Given the description of an element on the screen output the (x, y) to click on. 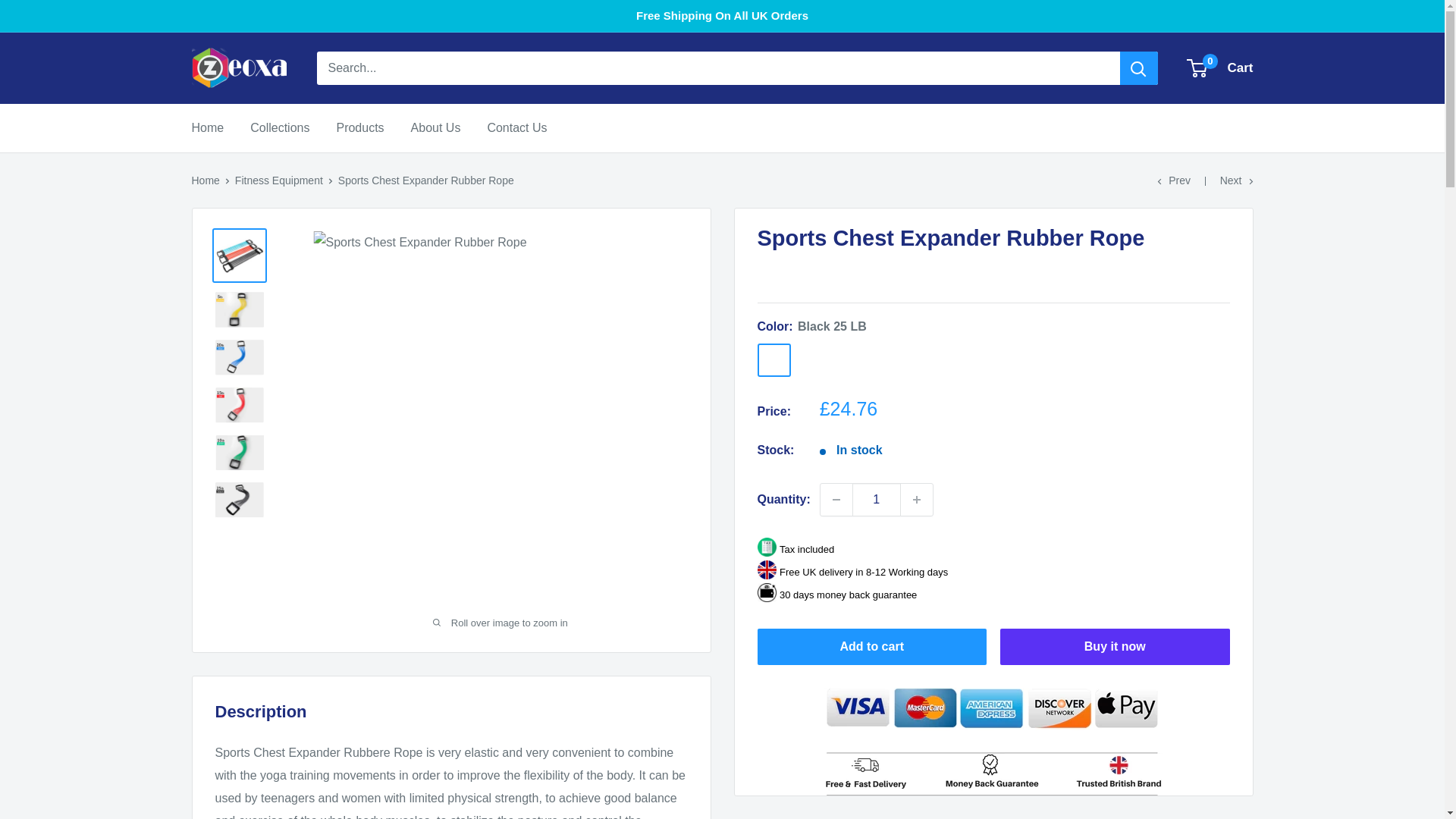
Add to cart (1220, 68)
Next (872, 646)
Decrease quantity by 1 (1236, 180)
Blue 20 LB (836, 499)
Buy it now (852, 359)
Products (1115, 646)
Home (360, 128)
Home (204, 180)
Contact Us (207, 128)
Red 15 LB (516, 128)
Fitness Equipment (813, 359)
Prev (278, 180)
yellow 5 LB (1174, 180)
About Us (891, 359)
